Given the description of an element on the screen output the (x, y) to click on. 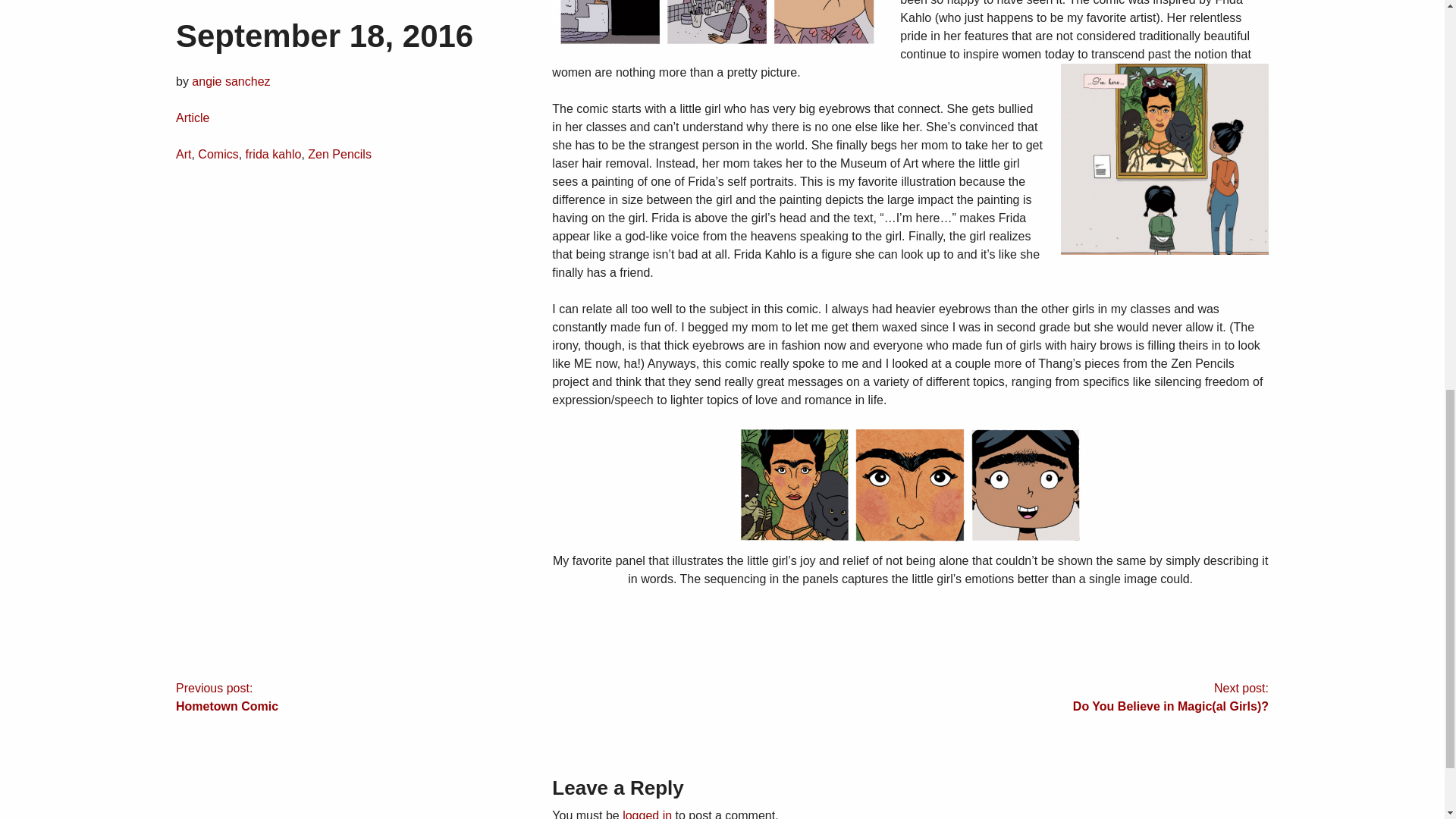
Zen Pencils (339, 17)
Comics (218, 17)
logged in (647, 814)
frida kahlo (273, 17)
Art (183, 17)
